Given the description of an element on the screen output the (x, y) to click on. 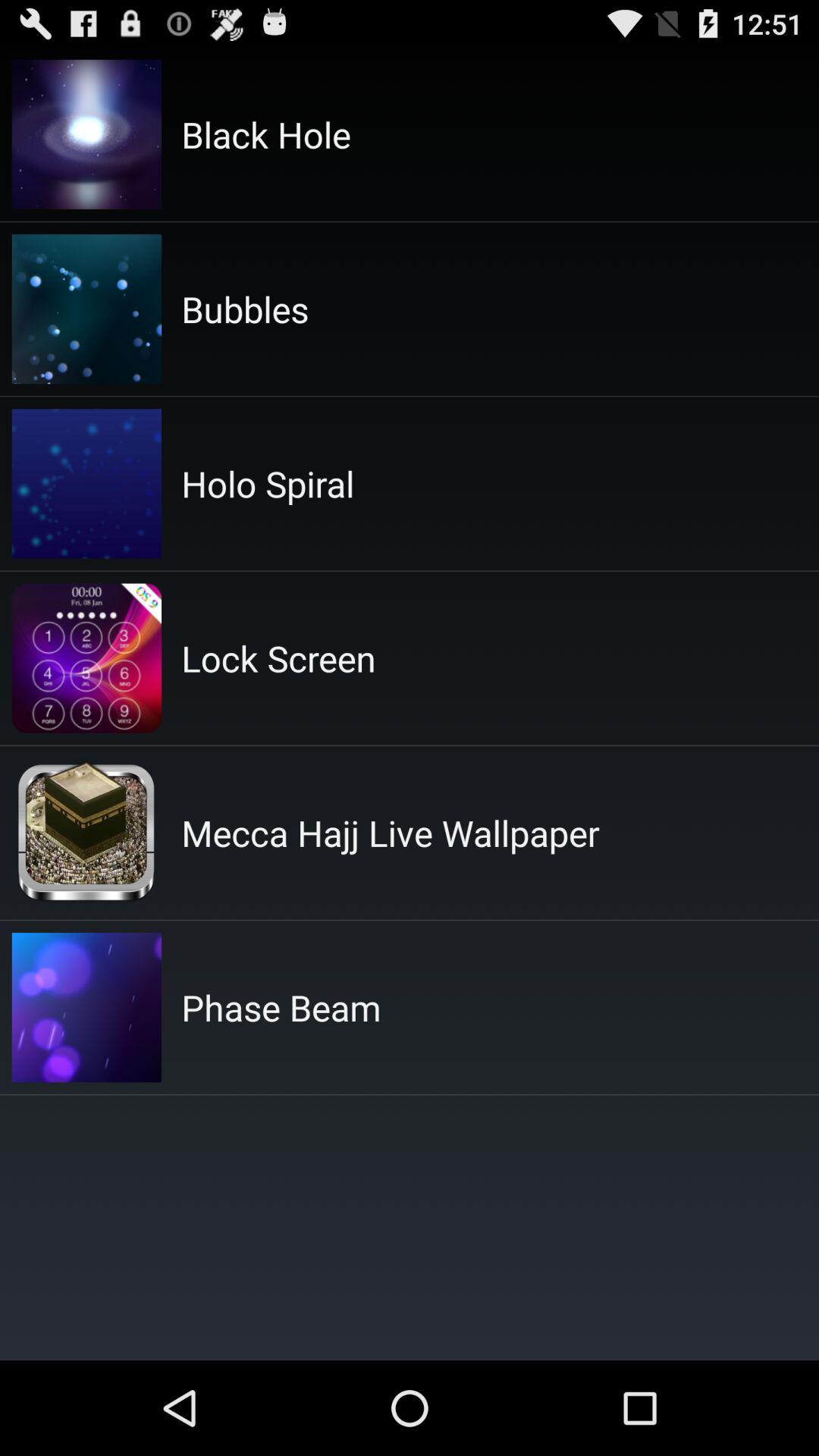
turn off lock screen icon (278, 658)
